Given the description of an element on the screen output the (x, y) to click on. 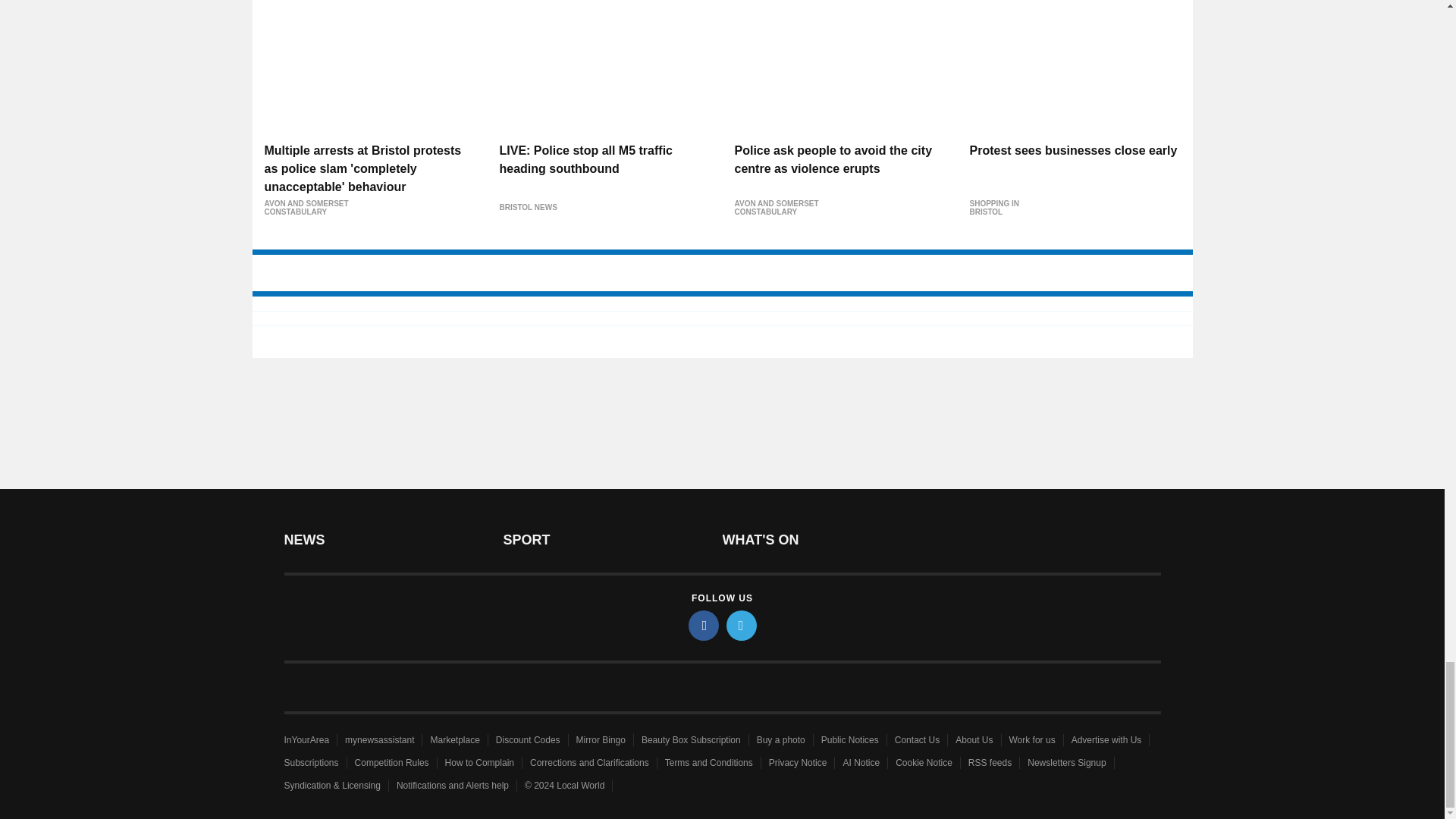
twitter (741, 625)
facebook (703, 625)
